Given the description of an element on the screen output the (x, y) to click on. 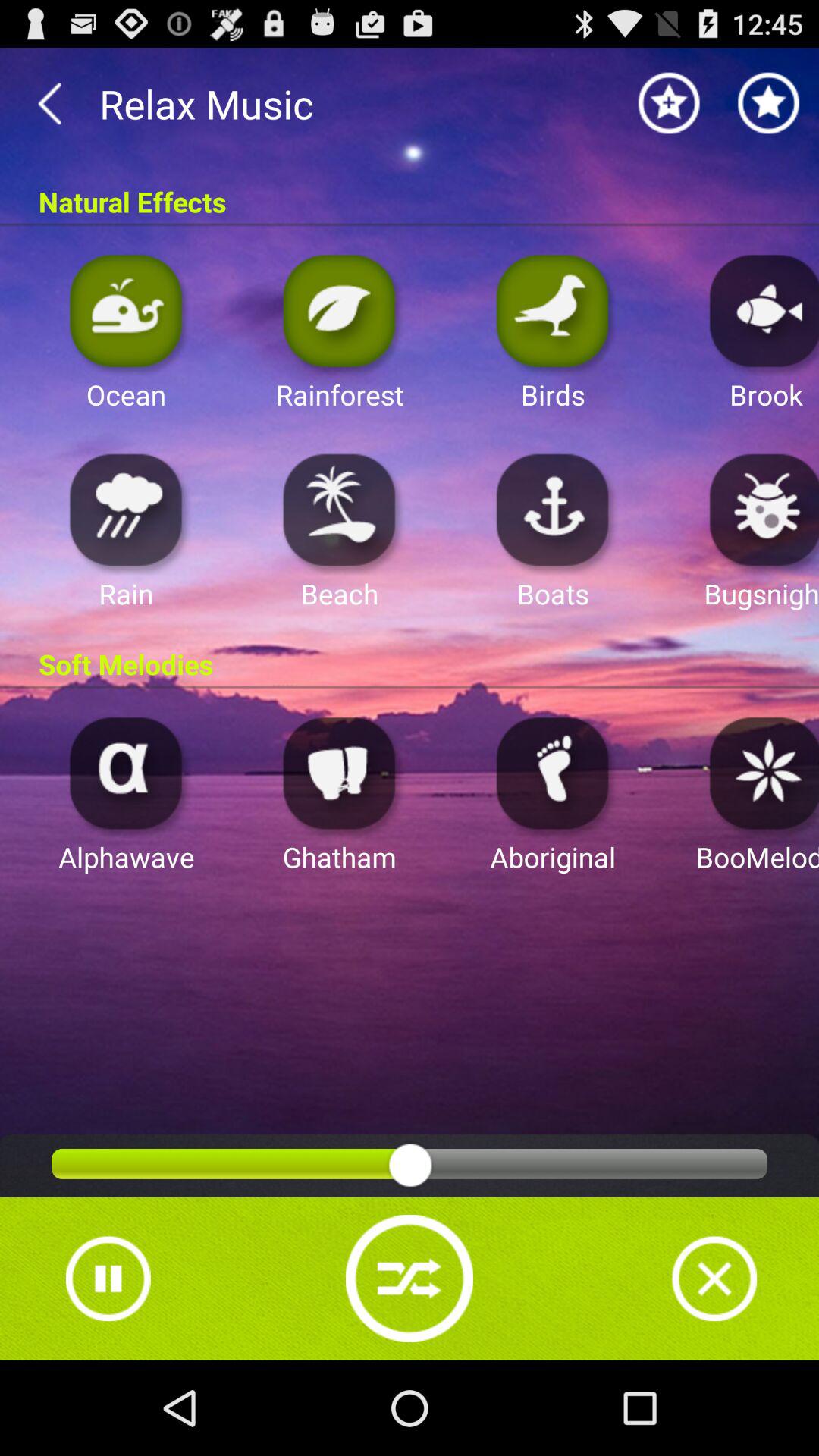
add to favorites (769, 103)
